Given the description of an element on the screen output the (x, y) to click on. 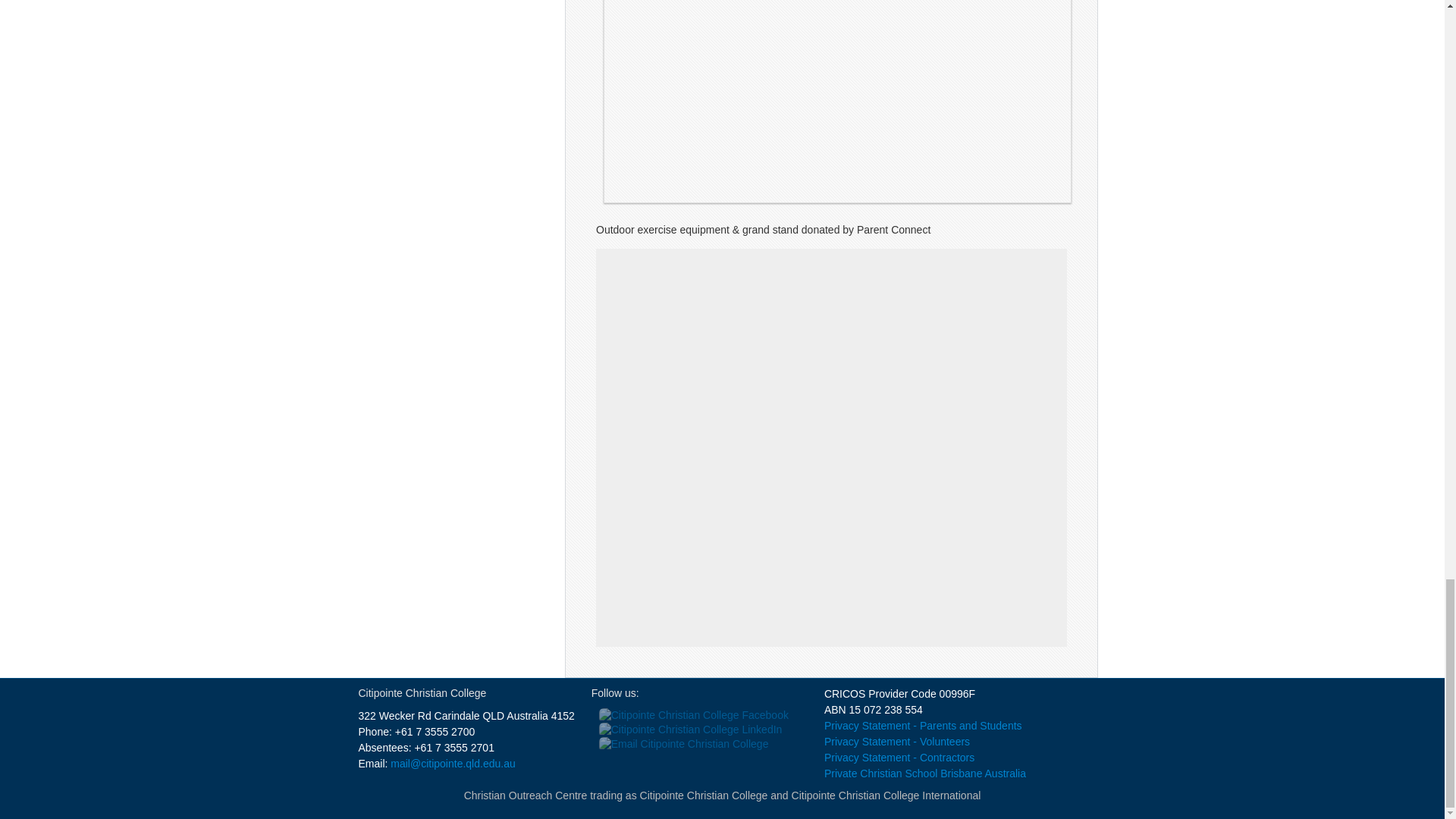
Parent Connect donated exercise equipment to the College (837, 101)
